Given the description of an element on the screen output the (x, y) to click on. 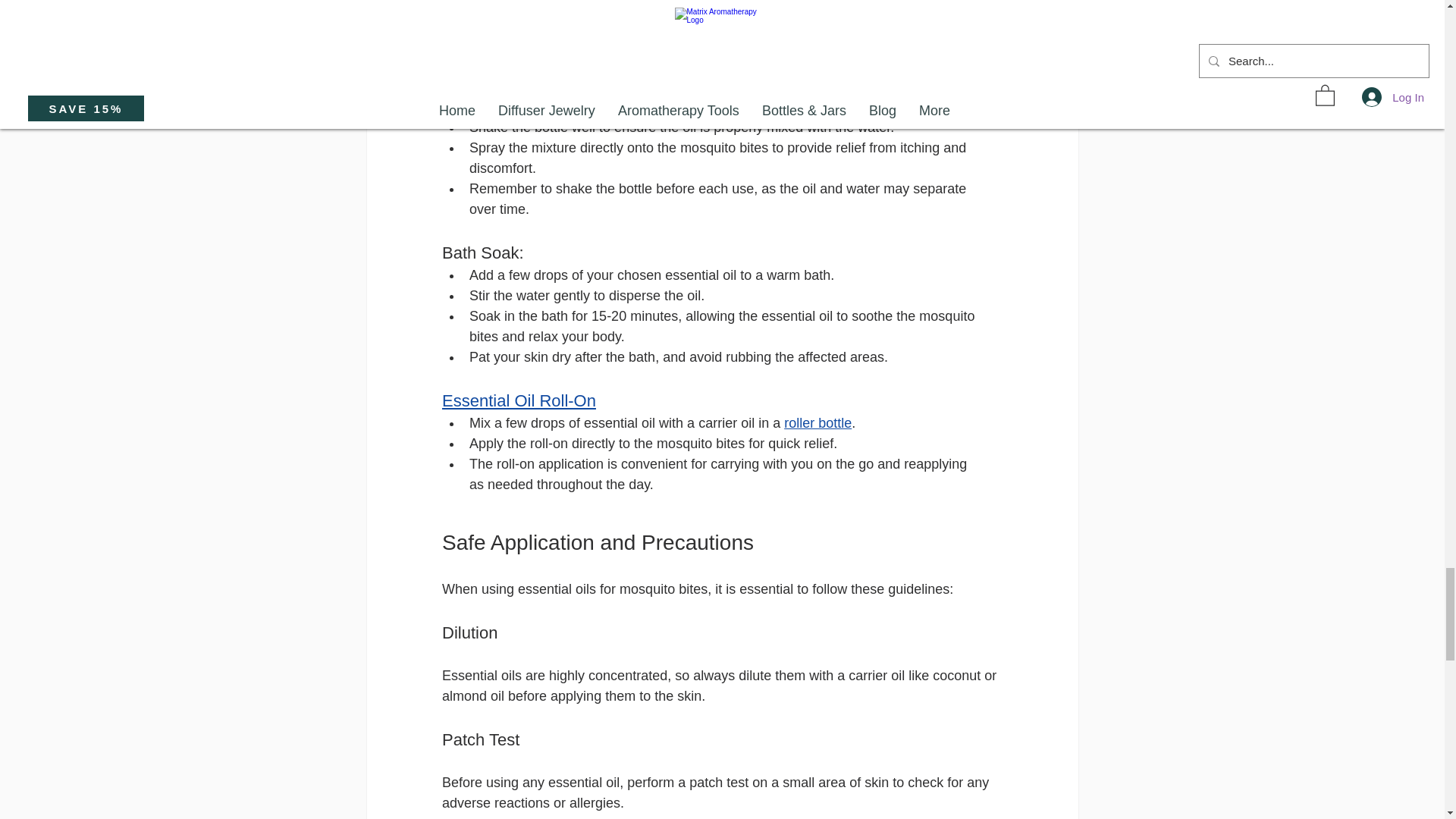
Essential Oil Roll-On (518, 400)
roller bottle (817, 422)
small spray bottle (549, 106)
